Given the description of an element on the screen output the (x, y) to click on. 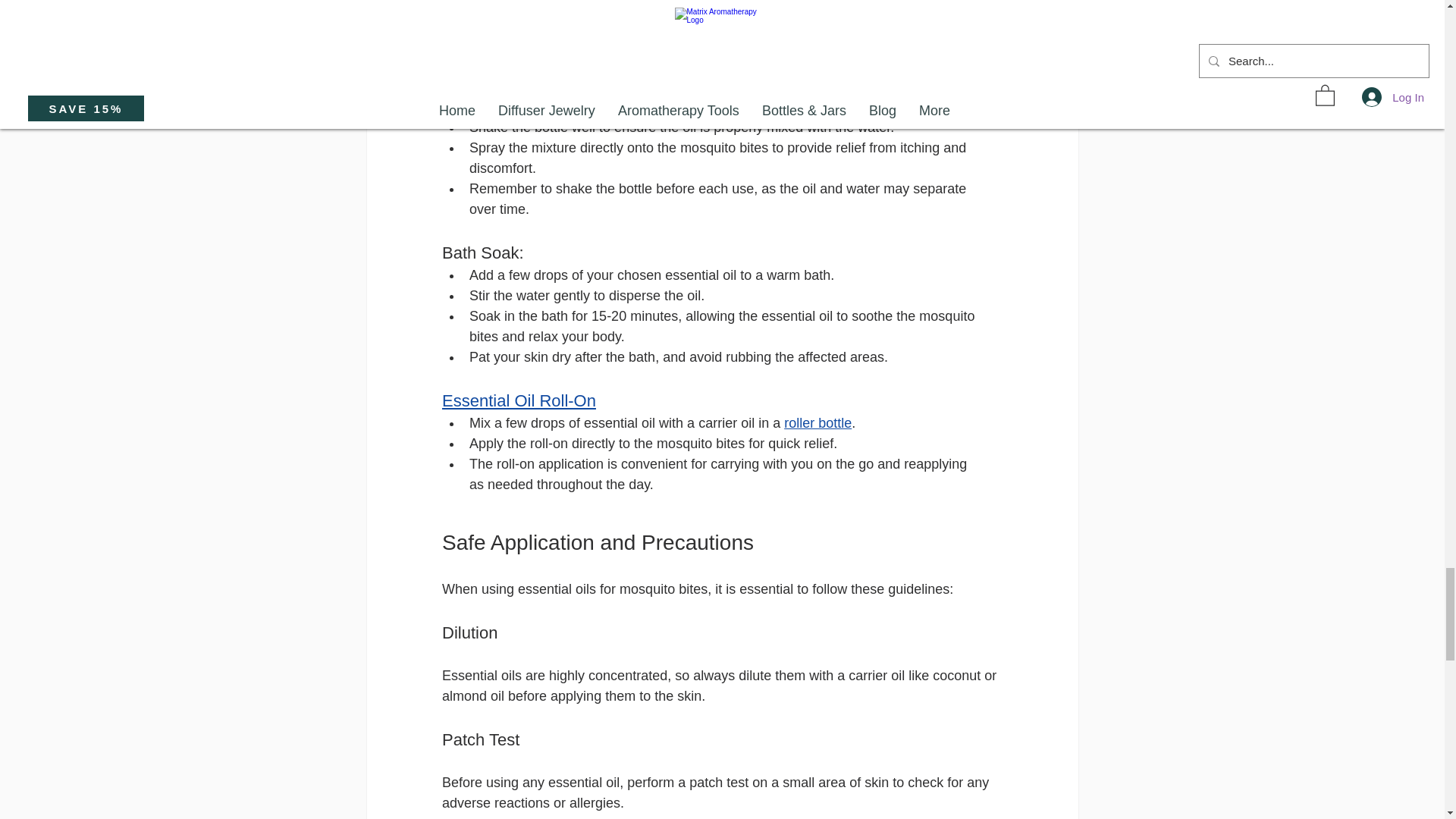
Essential Oil Roll-On (518, 400)
roller bottle (817, 422)
small spray bottle (549, 106)
